Given the description of an element on the screen output the (x, y) to click on. 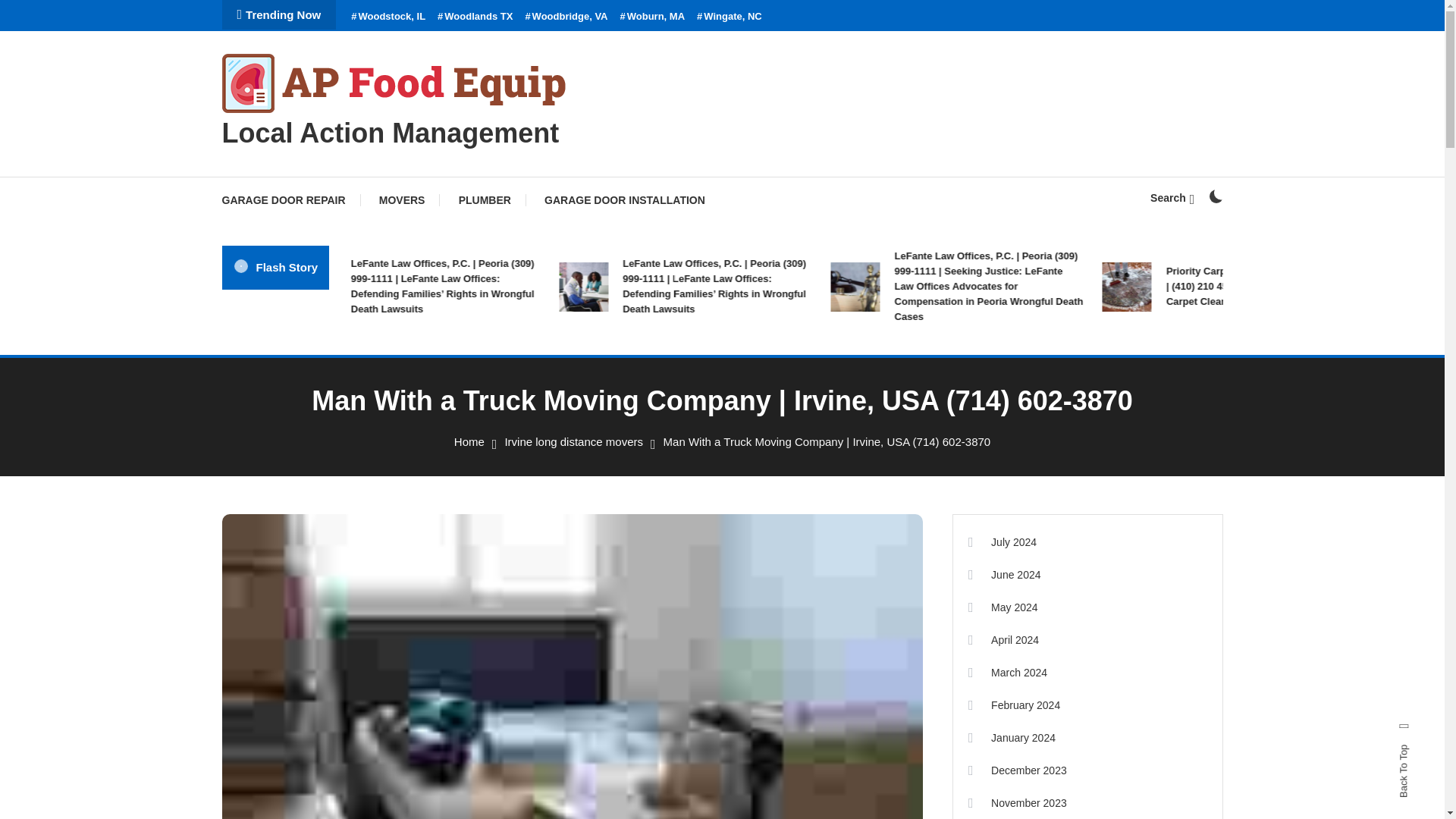
Search (768, 434)
Search (1171, 197)
Woodbridge, VA (565, 16)
Wingate, NC (729, 16)
GARAGE DOOR REPAIR (290, 199)
MOVERS (402, 199)
GARAGE DOOR INSTALLATION (624, 199)
Local Action Management (390, 132)
PLUMBER (484, 199)
Woodlands TX (475, 16)
on (1215, 196)
Irvine long distance movers (573, 440)
Woburn, MA (652, 16)
Woodstock, IL (387, 16)
Home (469, 440)
